Given the description of an element on the screen output the (x, y) to click on. 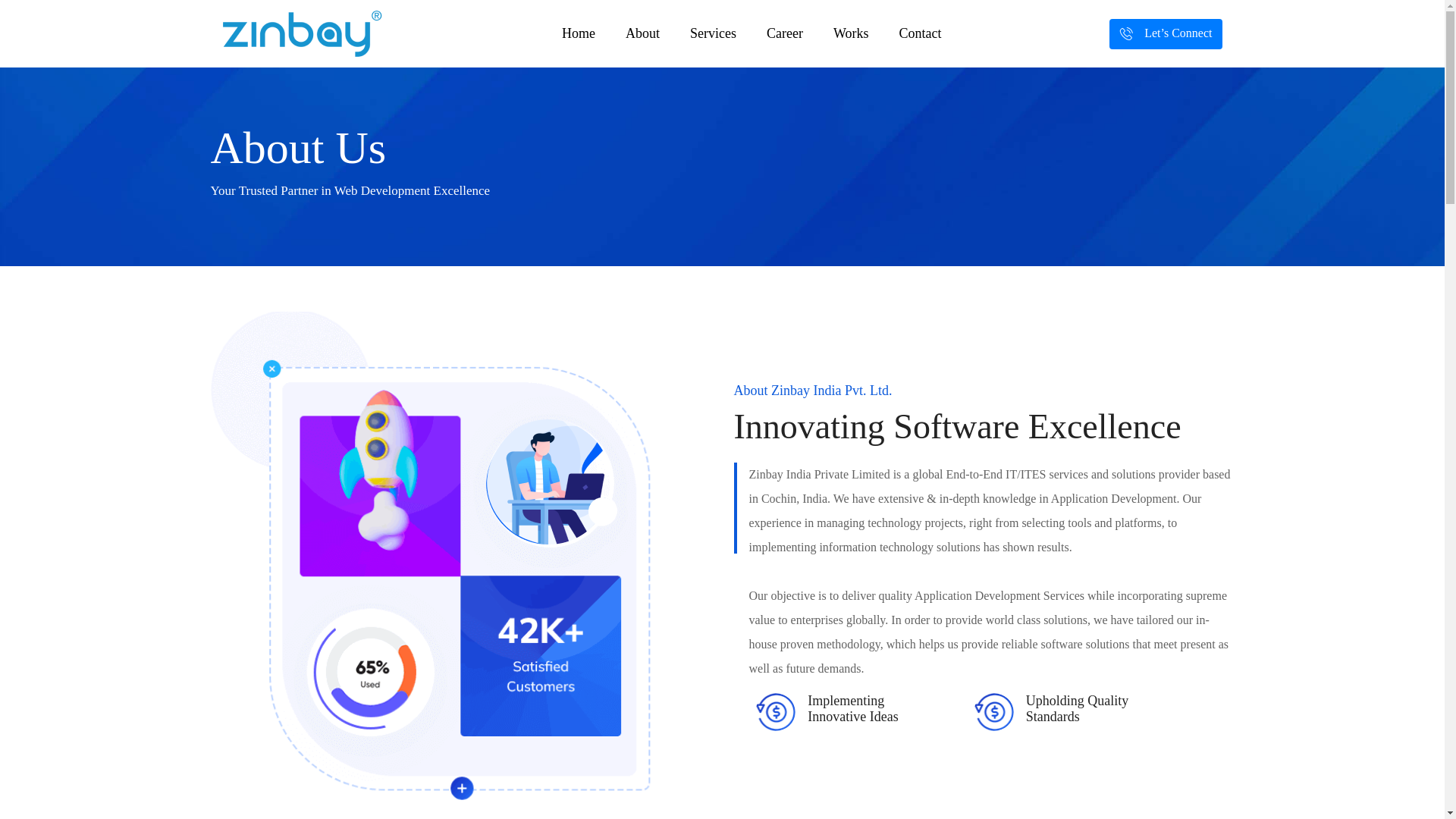
About (642, 33)
Works (850, 33)
Services (713, 33)
Home (578, 33)
Contact (919, 33)
Career (784, 33)
